Given the description of an element on the screen output the (x, y) to click on. 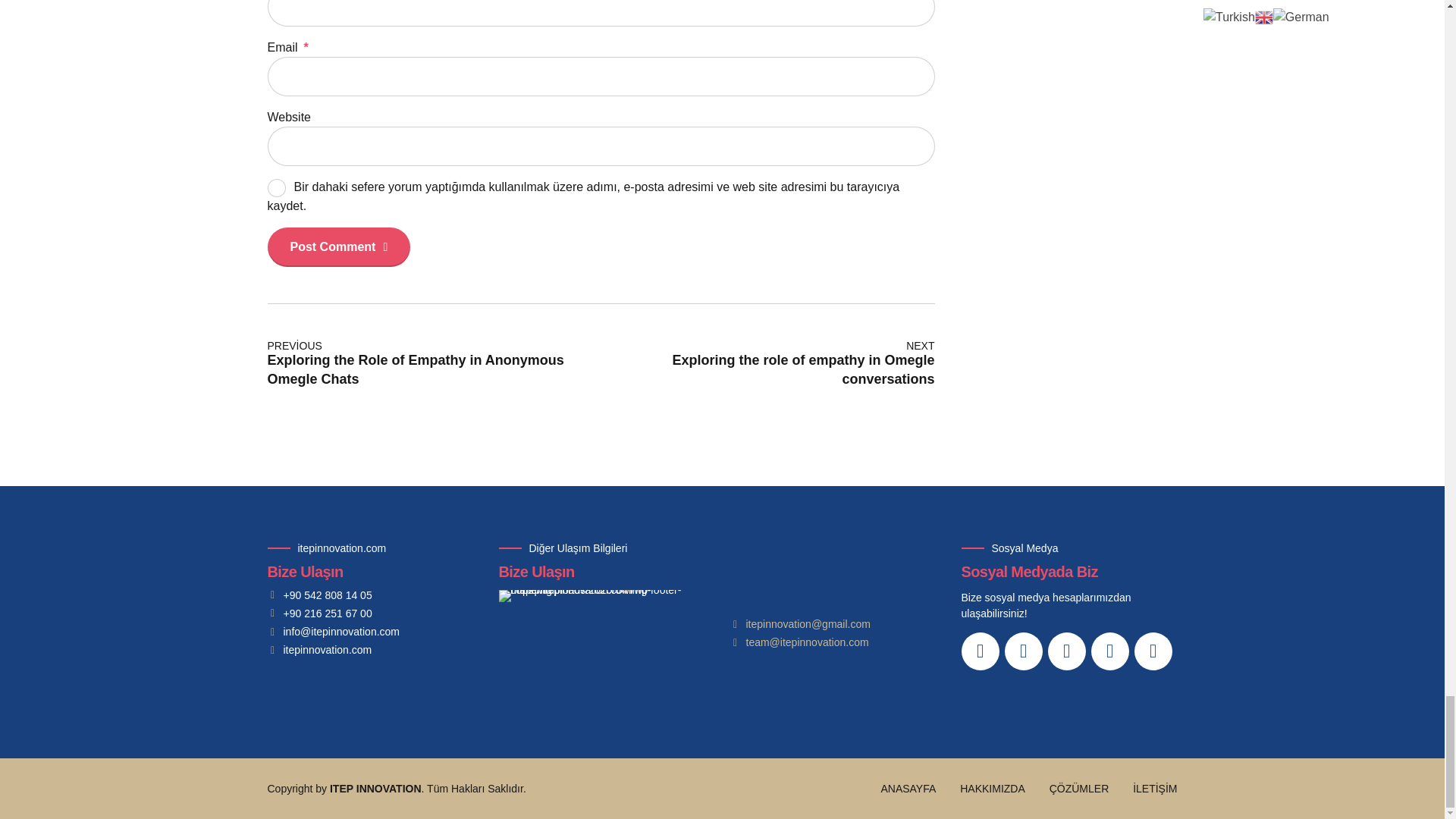
yes (275, 188)
itepinnovation.com (318, 650)
Post Comment (766, 364)
